Given the description of an element on the screen output the (x, y) to click on. 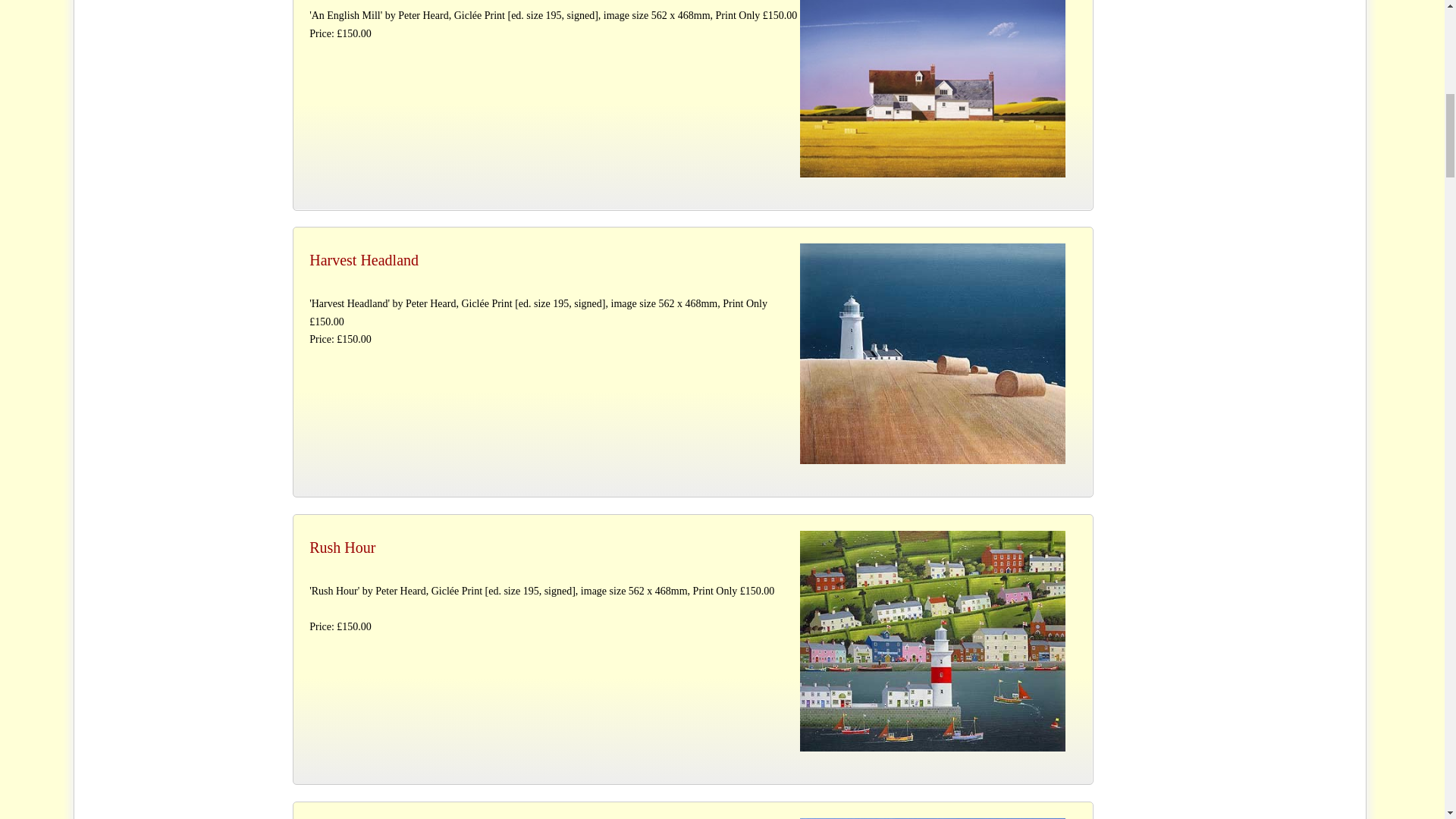
Harvest Headland (691, 259)
An English Mill (932, 88)
Harvest Headland (932, 353)
Rush Hour (932, 640)
Rush Hour (691, 547)
